Given the description of an element on the screen output the (x, y) to click on. 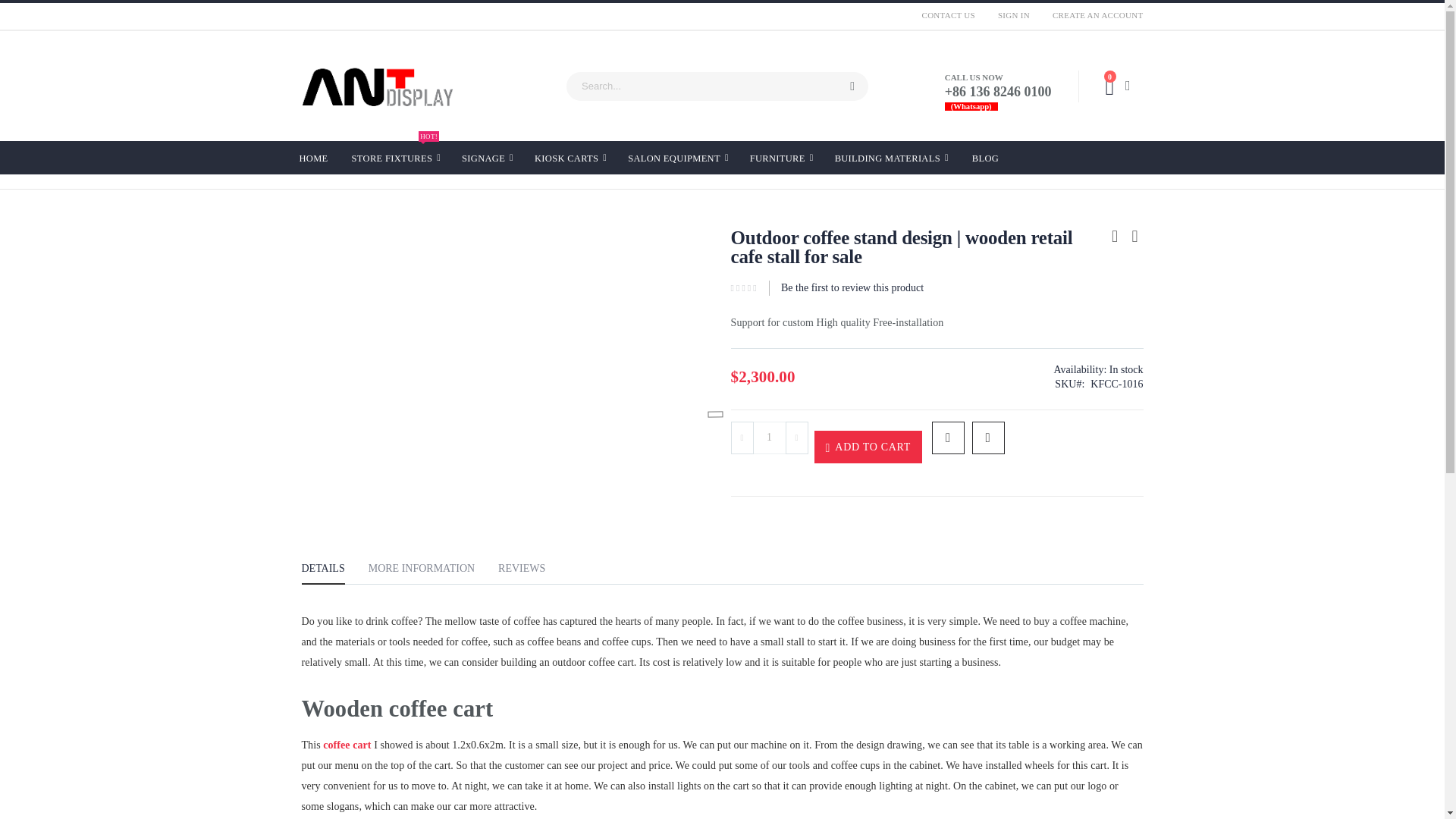
SIGN IN (1014, 15)
Search (851, 86)
CREATE AN ACCOUNT (1091, 15)
Search (851, 86)
CONTACT US (949, 15)
Store Fixtures (395, 157)
1 (395, 157)
HOME (769, 437)
